Given the description of an element on the screen output the (x, y) to click on. 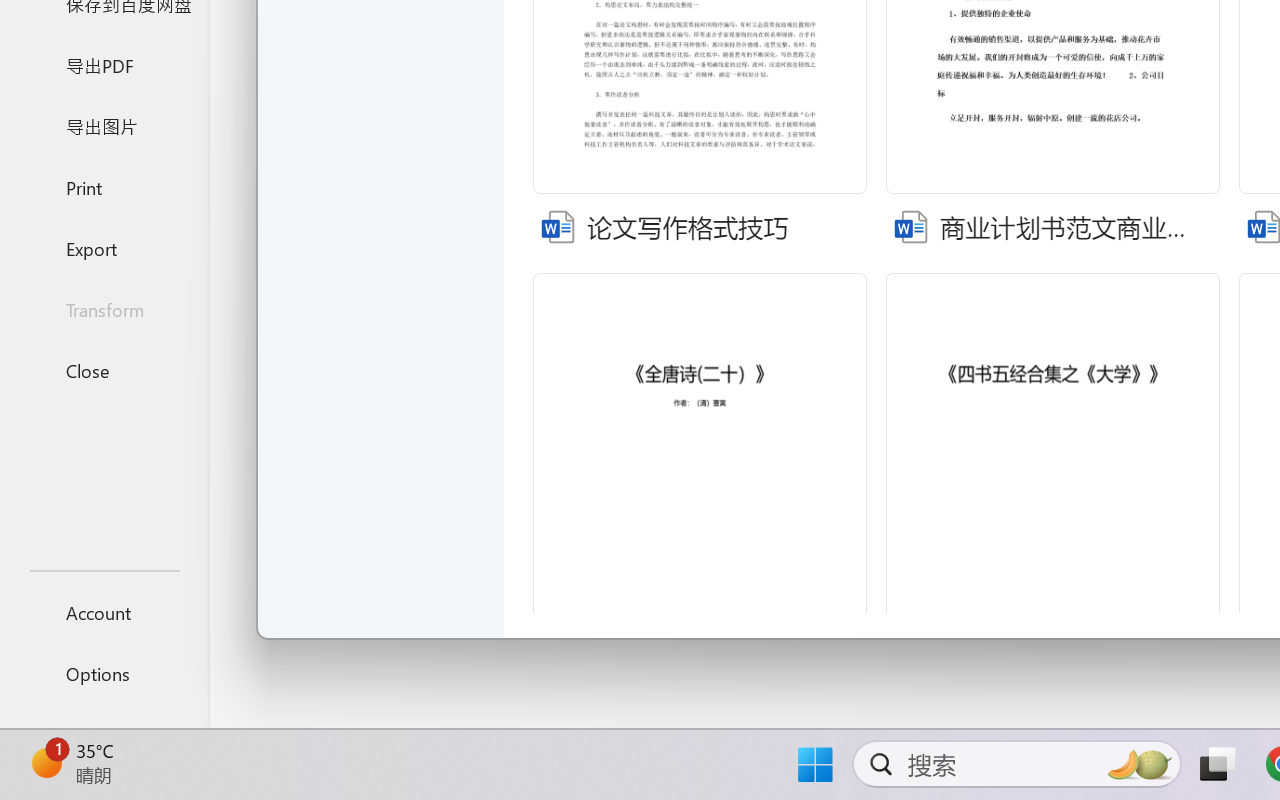
Export (104, 248)
Print (104, 186)
Account (104, 612)
